Given the description of an element on the screen output the (x, y) to click on. 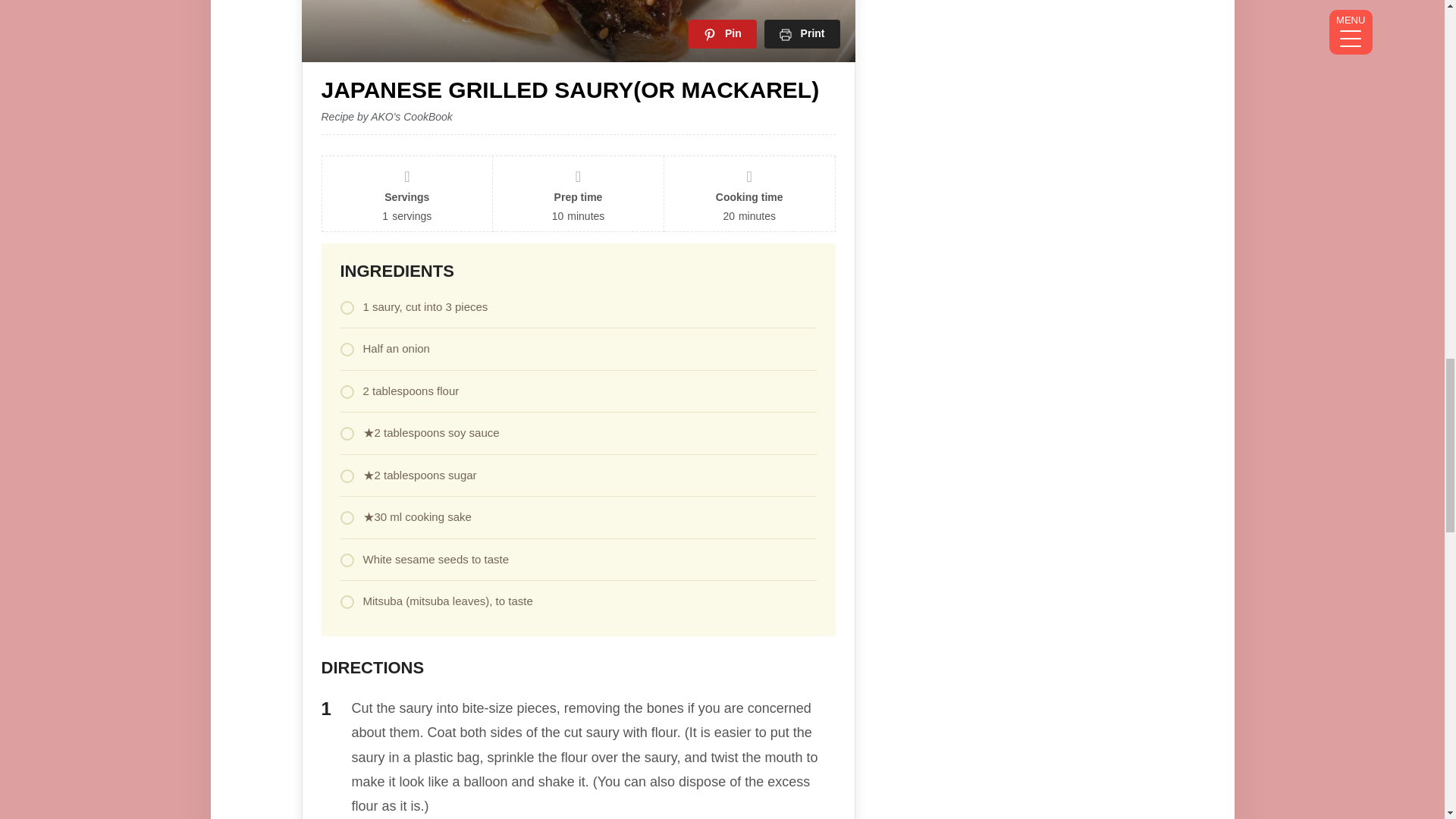
Print directions... (802, 33)
